Given the description of an element on the screen output the (x, y) to click on. 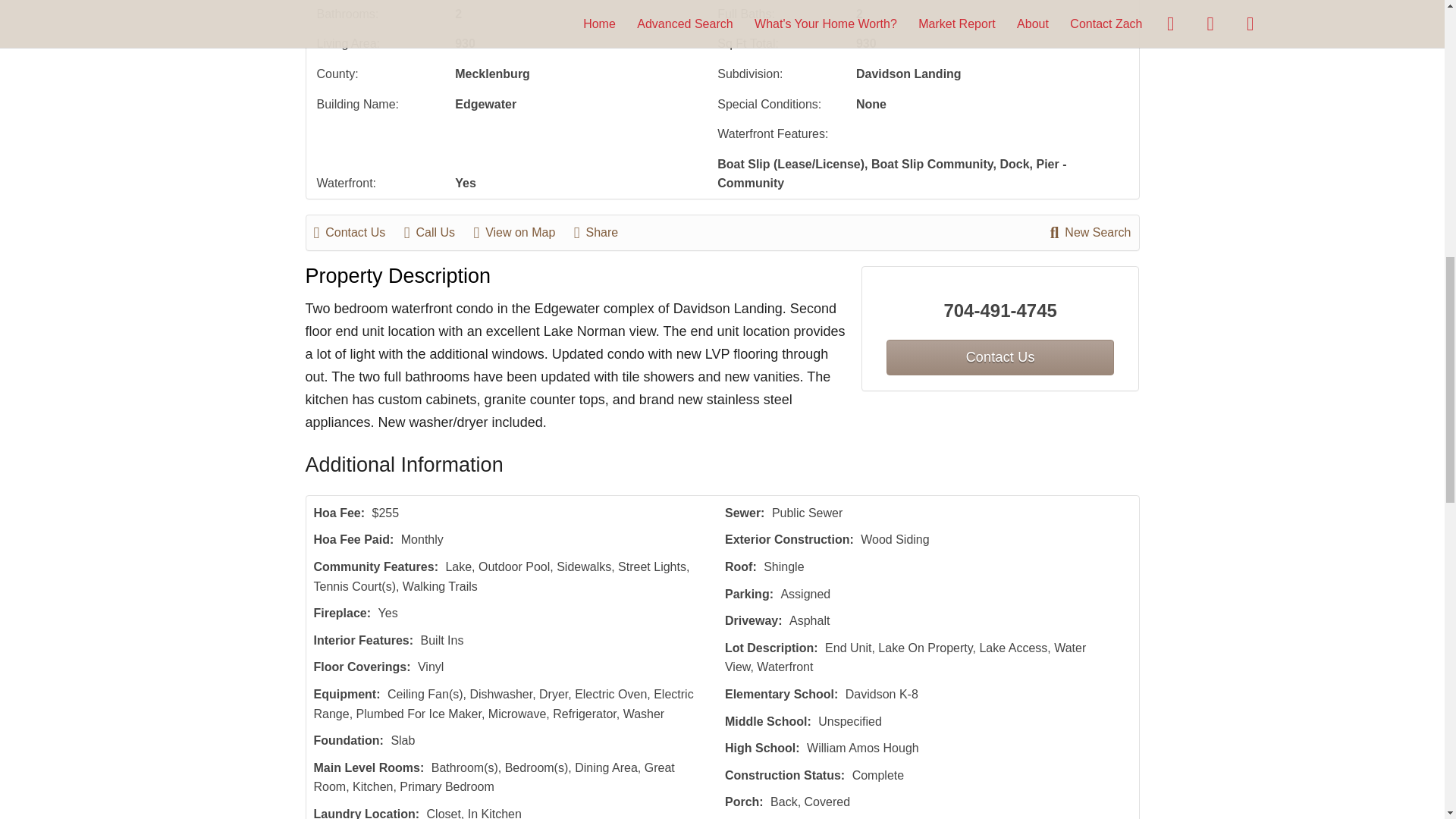
Call Us (437, 232)
New Search (1090, 232)
View on Map (521, 232)
Contact Us (357, 232)
Share (603, 232)
Contact Us (999, 357)
704-491-4745 (1000, 310)
